Given the description of an element on the screen output the (x, y) to click on. 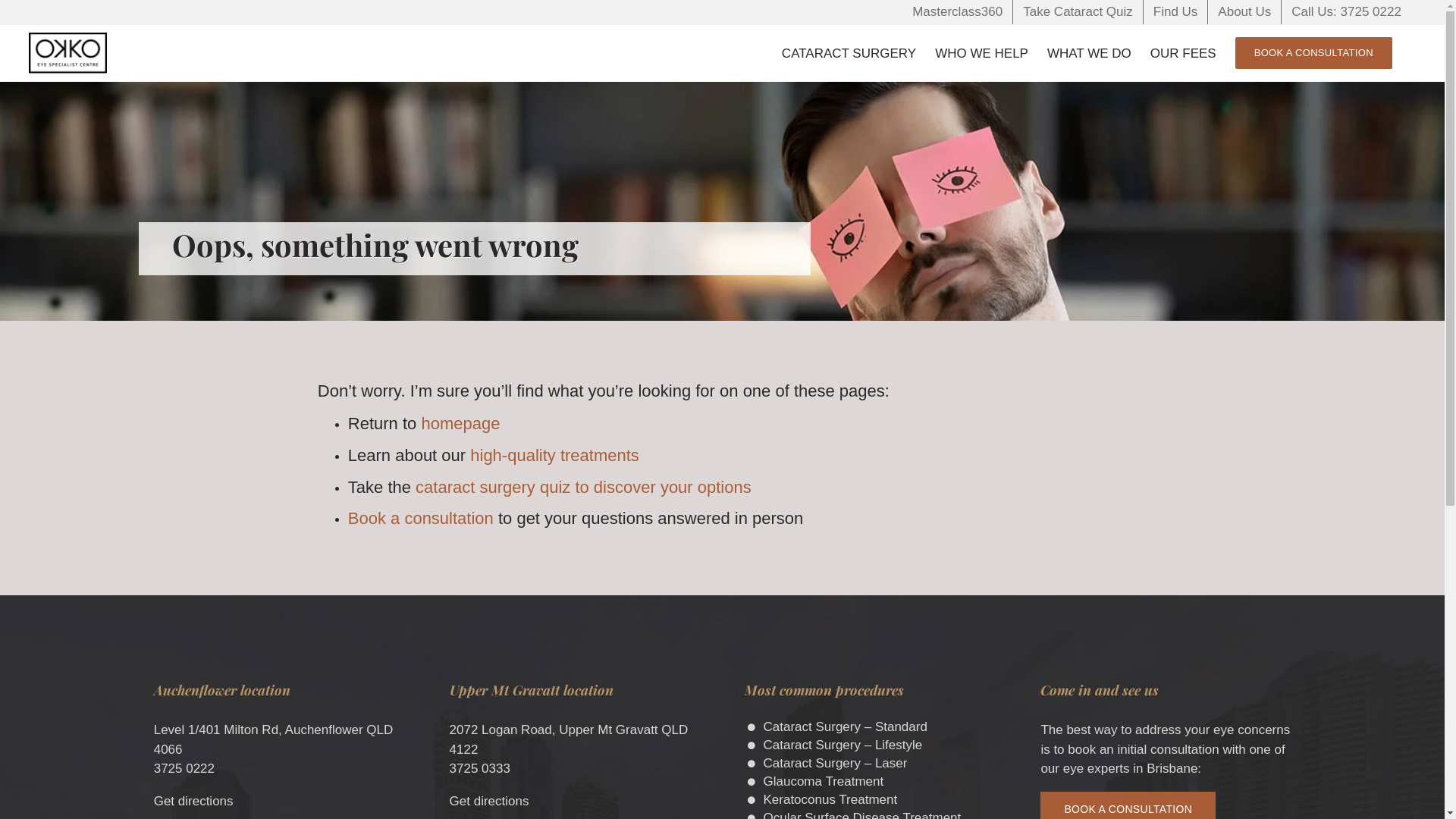
CATARACT SURGERY Element type: text (848, 53)
cataract surgery quiz to discover your options Element type: text (583, 486)
homepage Element type: text (459, 423)
Find Us Element type: text (1175, 12)
Keratoconus Treatment Element type: text (878, 799)
3725 0333 Element type: text (479, 768)
OUR FEES Element type: text (1183, 53)
Call Us: 3725 0222 Element type: text (1346, 12)
Glaucoma Treatment Element type: text (878, 781)
high-quality treatments Element type: text (554, 454)
Book a consultation Element type: text (420, 517)
Level 1/401 Milton Rd, Auchenflower QLD 4066 Element type: text (273, 739)
2072 Logan Road, Upper Mt Gravatt QLD 4122  Element type: text (568, 739)
Get directions Element type: text (489, 800)
About Us Element type: text (1244, 12)
Get directions Element type: text (193, 800)
WHAT WE DO Element type: text (1089, 53)
Take Cataract Quiz Element type: text (1077, 12)
Masterclass360 Element type: text (957, 12)
3725 0222 Element type: text (183, 768)
WHO WE HELP Element type: text (981, 53)
BOOK A CONSULTATION Element type: text (1313, 53)
